Given the description of an element on the screen output the (x, y) to click on. 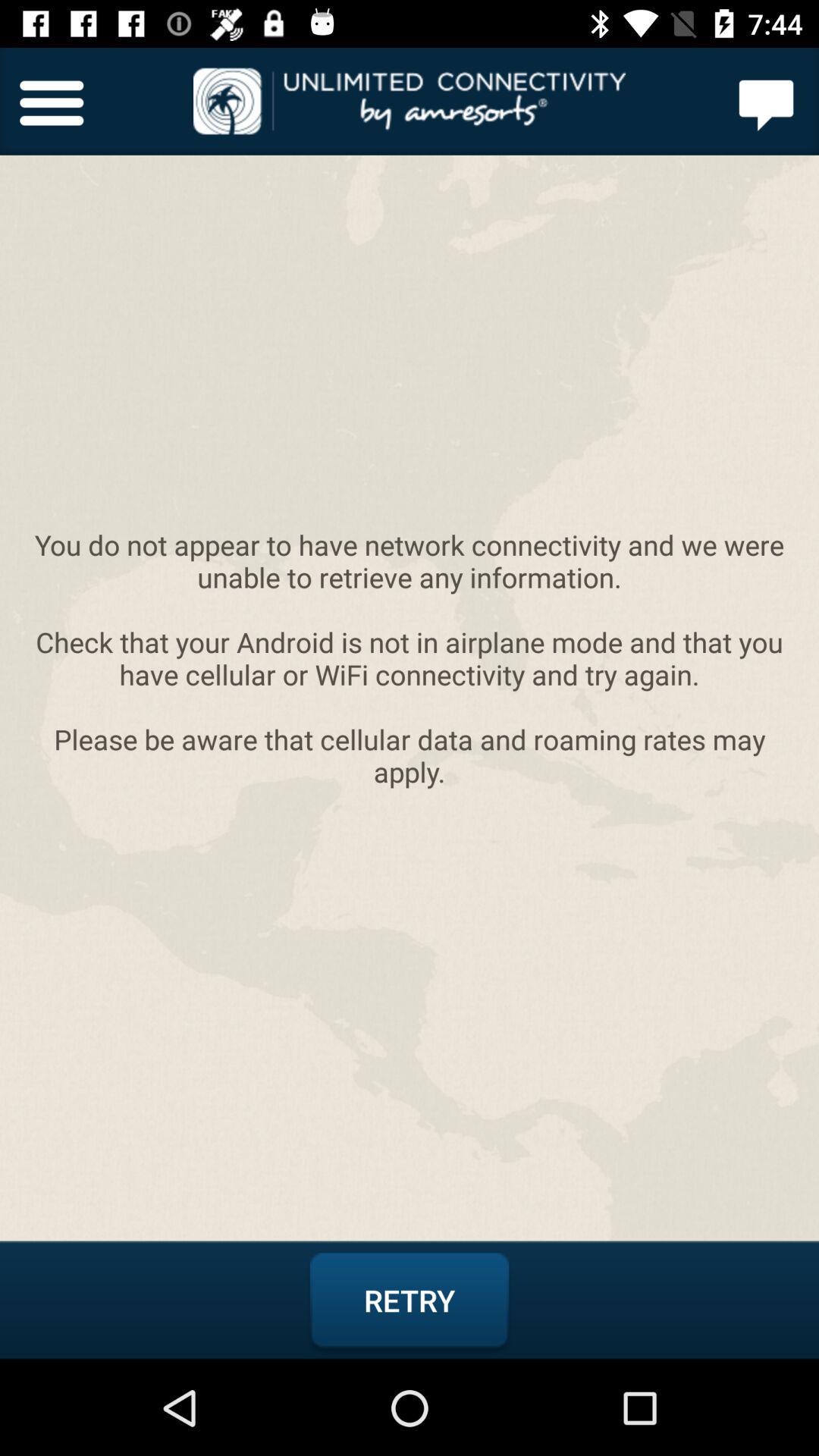
flip until retry (409, 1300)
